Given the description of an element on the screen output the (x, y) to click on. 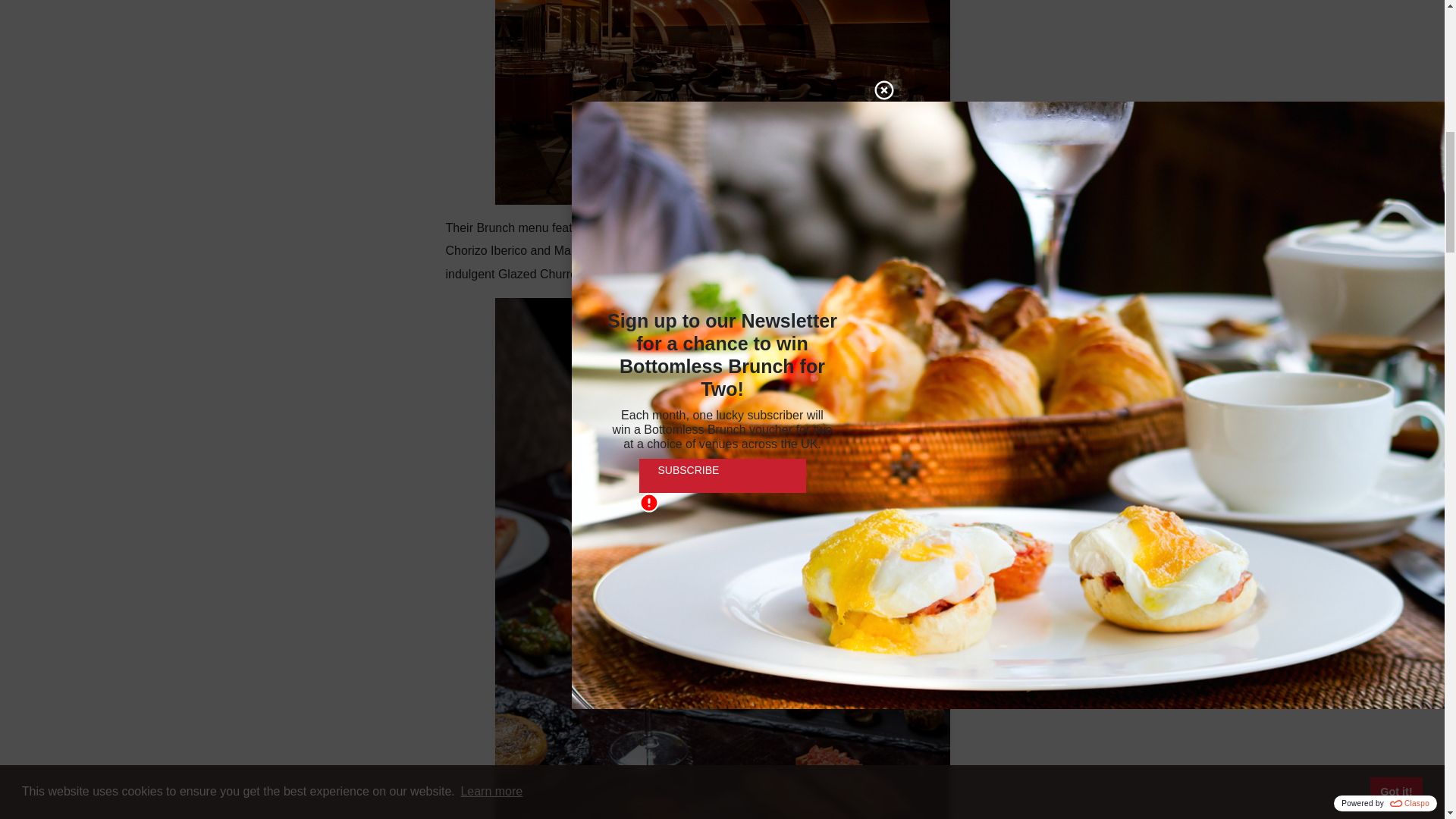
undefined (722, 102)
